Given the description of an element on the screen output the (x, y) to click on. 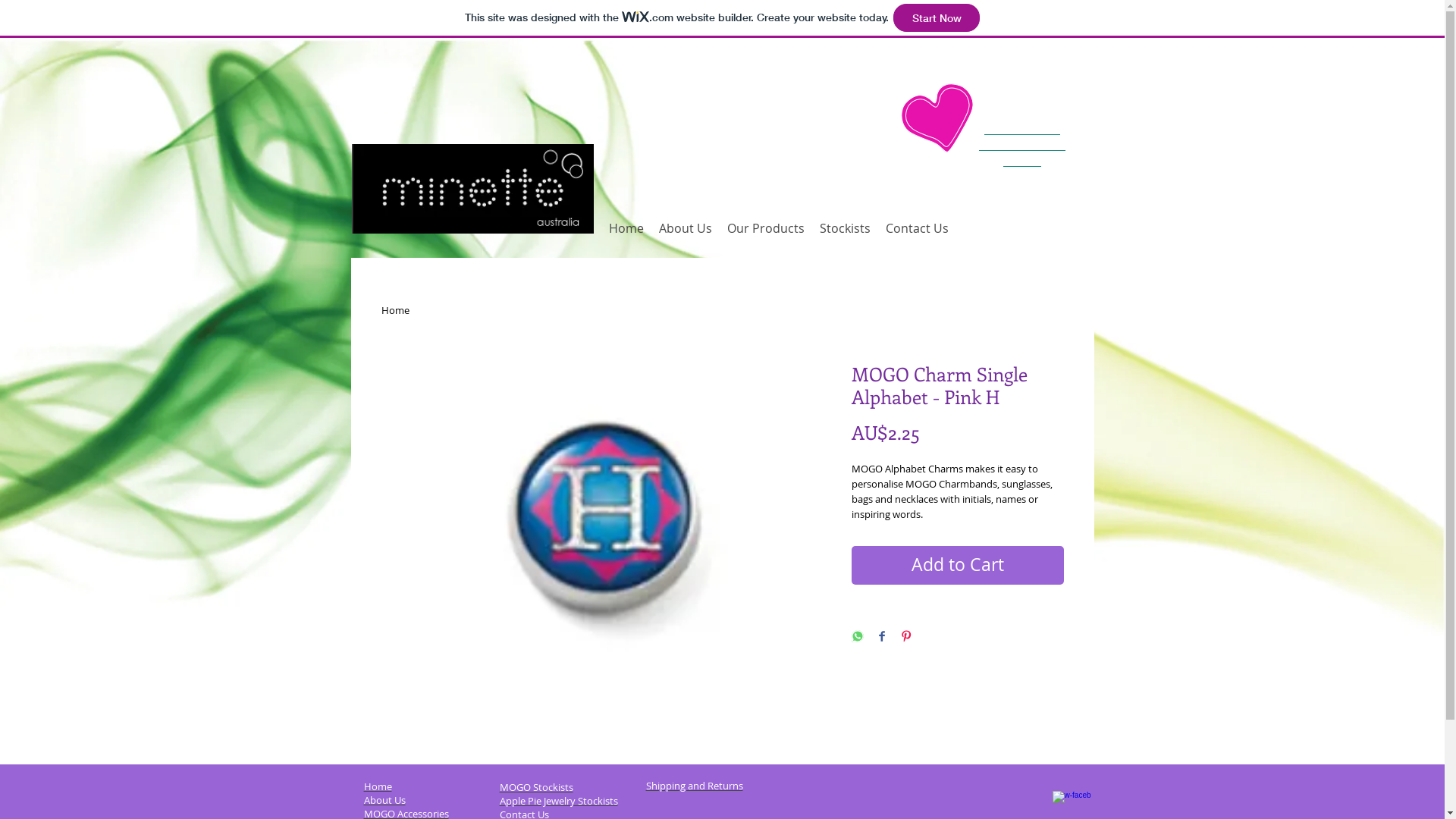
About Us Element type: text (384, 799)
About Us Element type: text (684, 227)
WHOLESALE
ON-LINE SHOP LOGIN Element type: text (1022, 144)
Add to Cart Element type: text (956, 565)
Stockists Element type: text (844, 227)
Contact Us Element type: text (917, 227)
Apple Pie Jewelry Stockists Element type: text (557, 800)
Home Element type: text (394, 309)
minette-logo.jpg Element type: hover (472, 188)
Our Products Element type: text (764, 227)
MOGO Stockists Element type: text (535, 786)
Shipping and Returns Element type: text (694, 785)
Home Element type: text (378, 786)
Home Element type: text (625, 227)
